Given the description of an element on the screen output the (x, y) to click on. 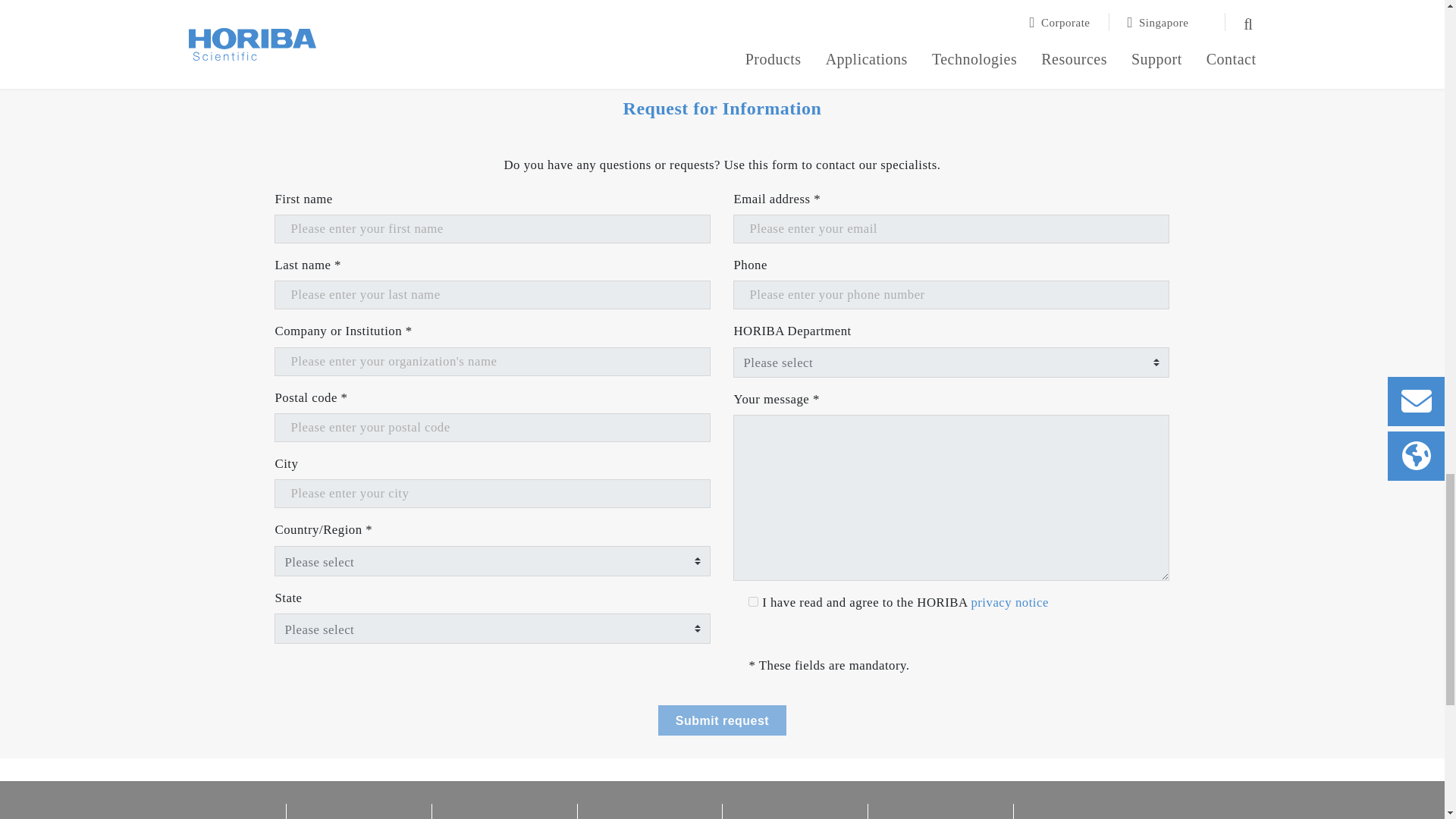
1 (753, 601)
